Given the description of an element on the screen output the (x, y) to click on. 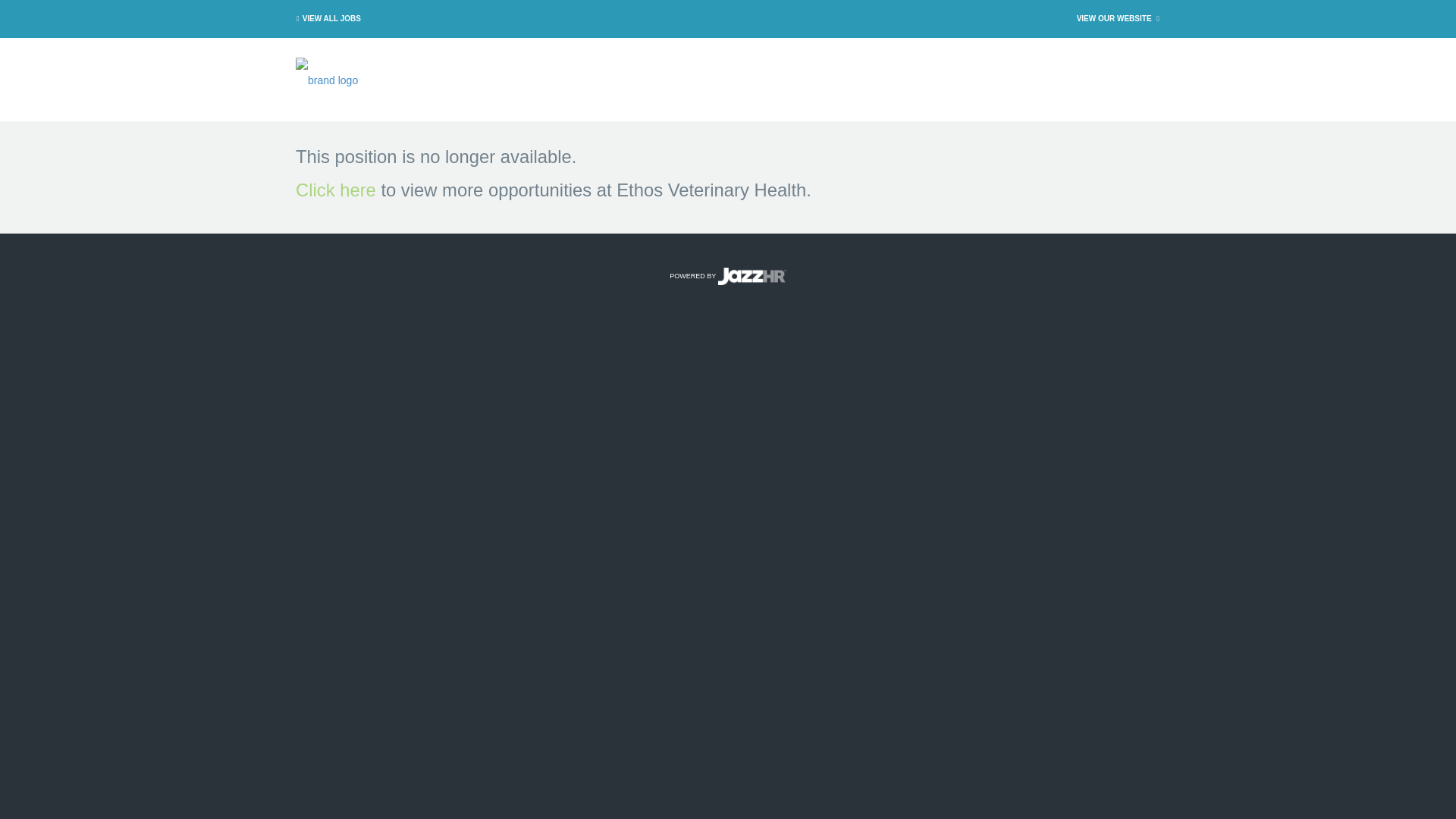
VIEW OUR WEBSITE (1119, 18)
VIEW ALL JOBS (326, 18)
POWERED BY (727, 275)
Click here (335, 189)
